Given the description of an element on the screen output the (x, y) to click on. 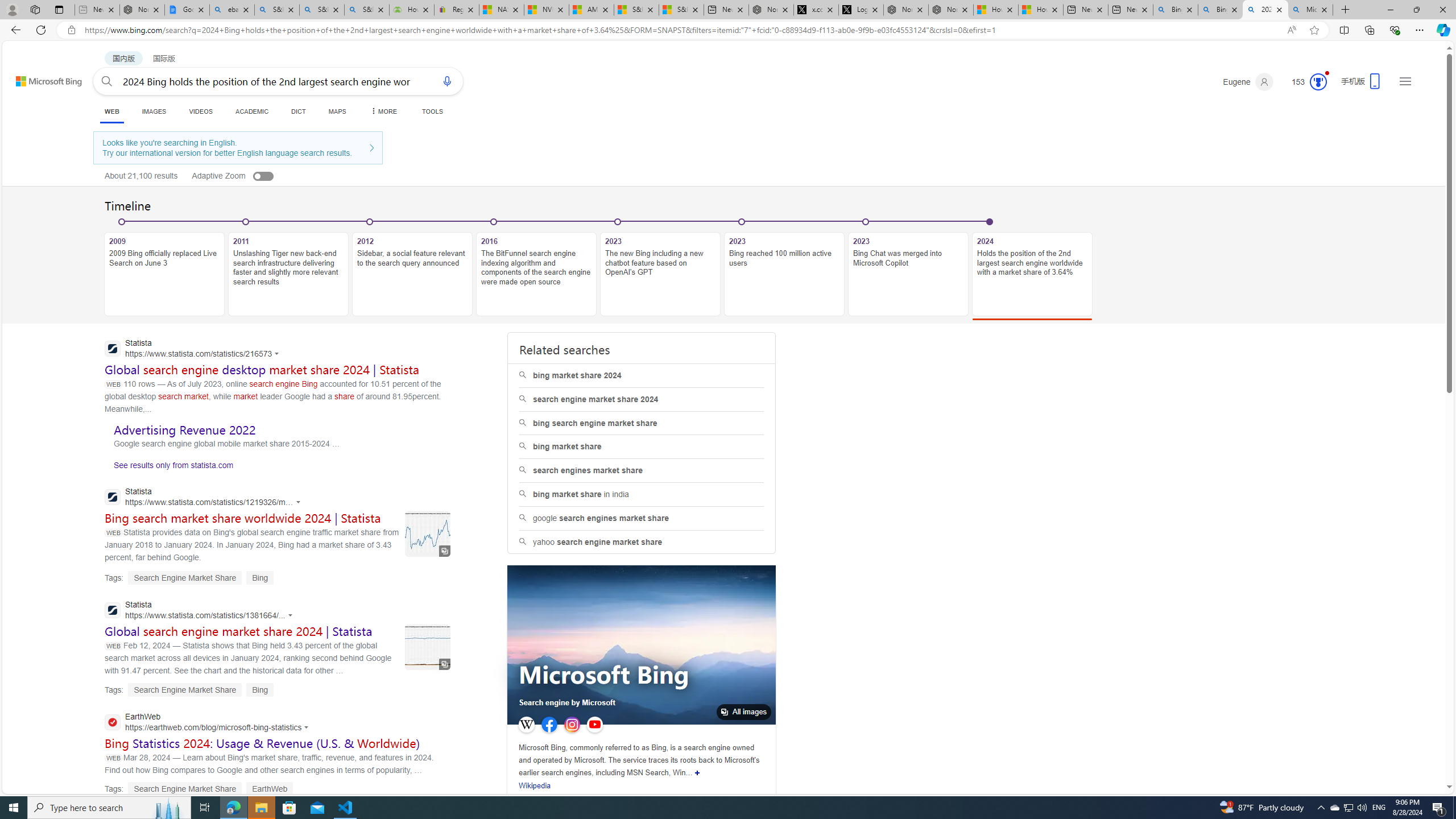
bing search engine market share (641, 422)
20092009 Bing officially replaced Live Search on June 3 (164, 267)
Search button (106, 80)
2023Bing Chat was merged into Microsoft Copilot (908, 267)
Global web icon (111, 722)
How the S&P 500 Performed During Major Market Crashes (411, 9)
WEB (111, 112)
WEB (111, 111)
Class: medal-circled (1317, 81)
